Given the description of an element on the screen output the (x, y) to click on. 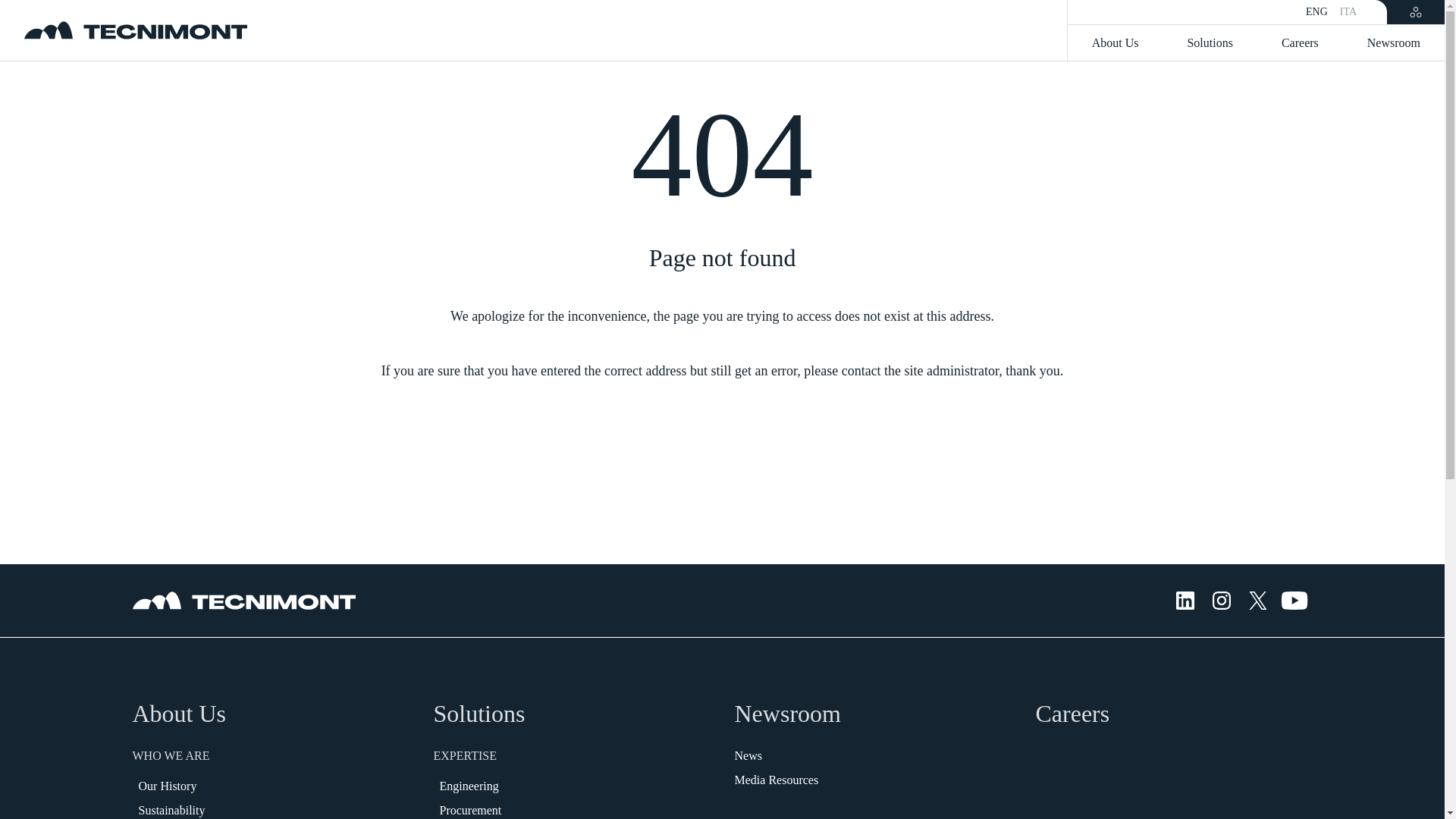
Careers (1299, 43)
Solutions (479, 713)
Our History (167, 785)
Newsroom (786, 713)
Media Resources (775, 779)
About Us (178, 713)
Careers (1072, 713)
About Us (1115, 43)
News (747, 755)
Engineering (469, 785)
